Given the description of an element on the screen output the (x, y) to click on. 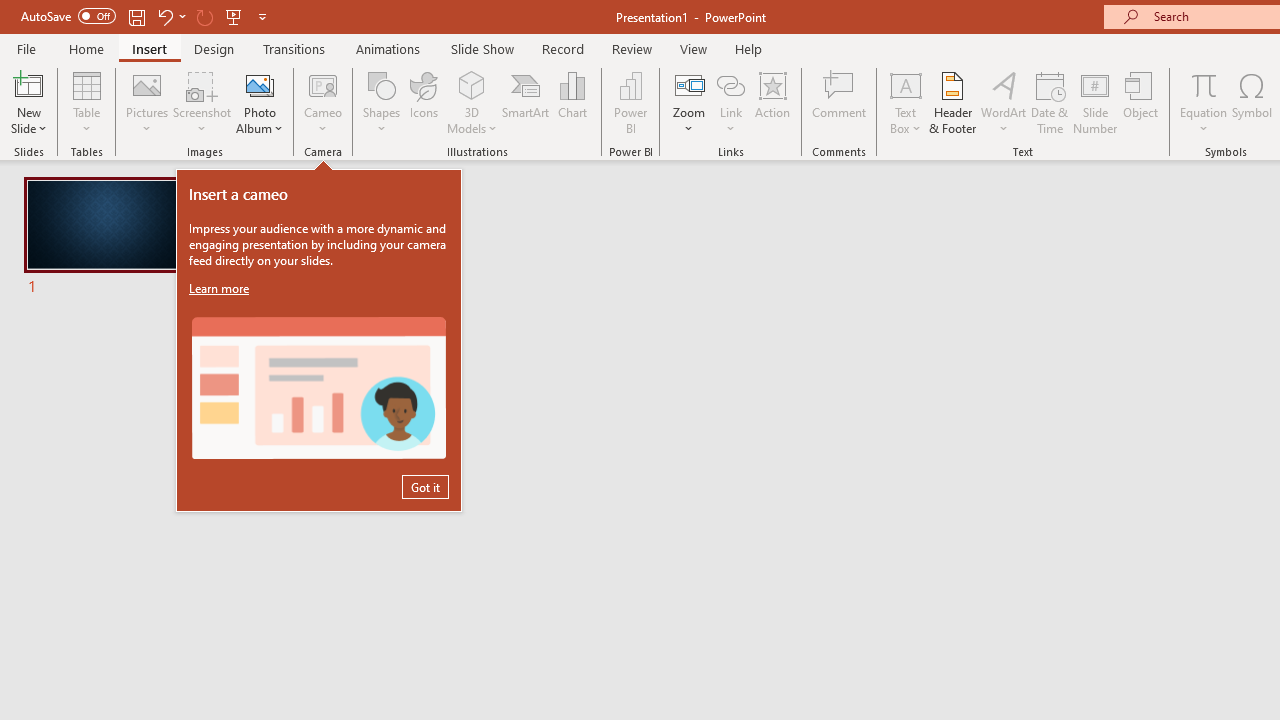
Date & Time... (1050, 102)
3D Models (472, 102)
WordArt (1004, 102)
Power BI (630, 102)
Slide Number (1095, 102)
